Given the description of an element on the screen output the (x, y) to click on. 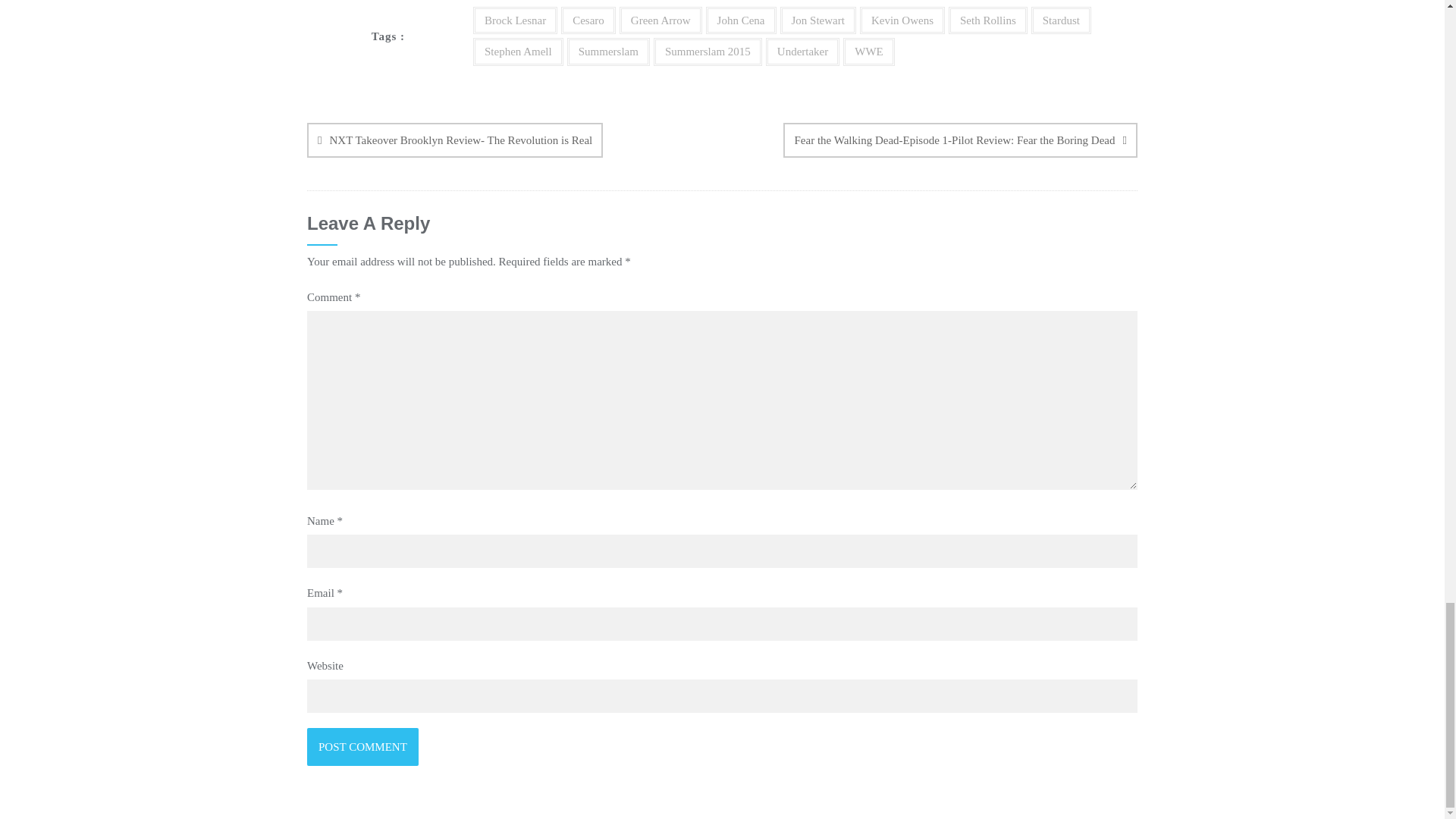
Post Comment (363, 746)
